Given the description of an element on the screen output the (x, y) to click on. 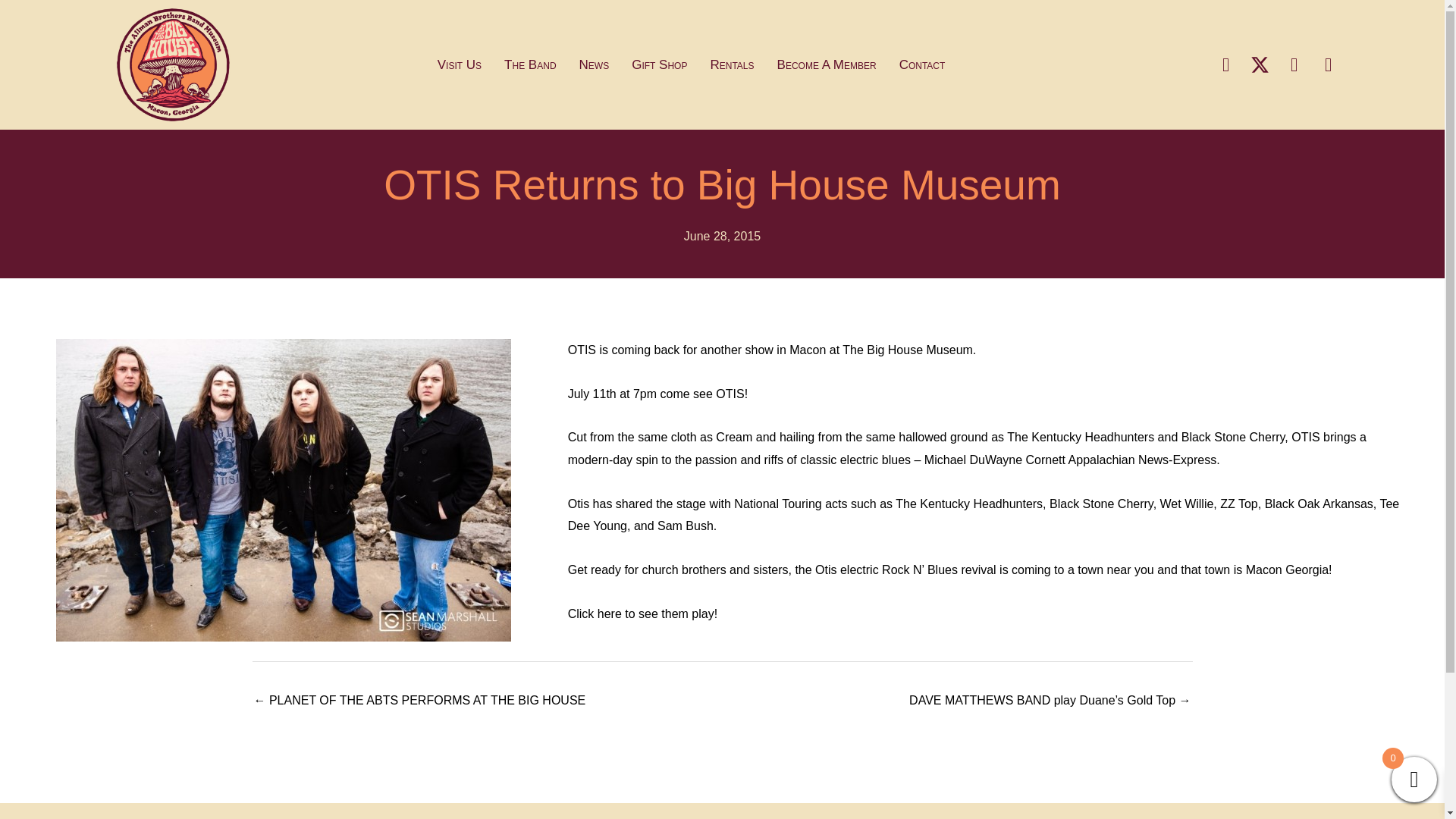
Contact (922, 65)
BH Vector Logo 1 of 1 (173, 64)
Visit Us (459, 65)
YouTube (1293, 64)
Gift Shop (659, 65)
The Band (530, 65)
Become A Member (826, 65)
Facebook (1226, 64)
News (594, 65)
Click here to see them play! (642, 613)
Rentals (731, 65)
Instagram (1328, 64)
